Given the description of an element on the screen output the (x, y) to click on. 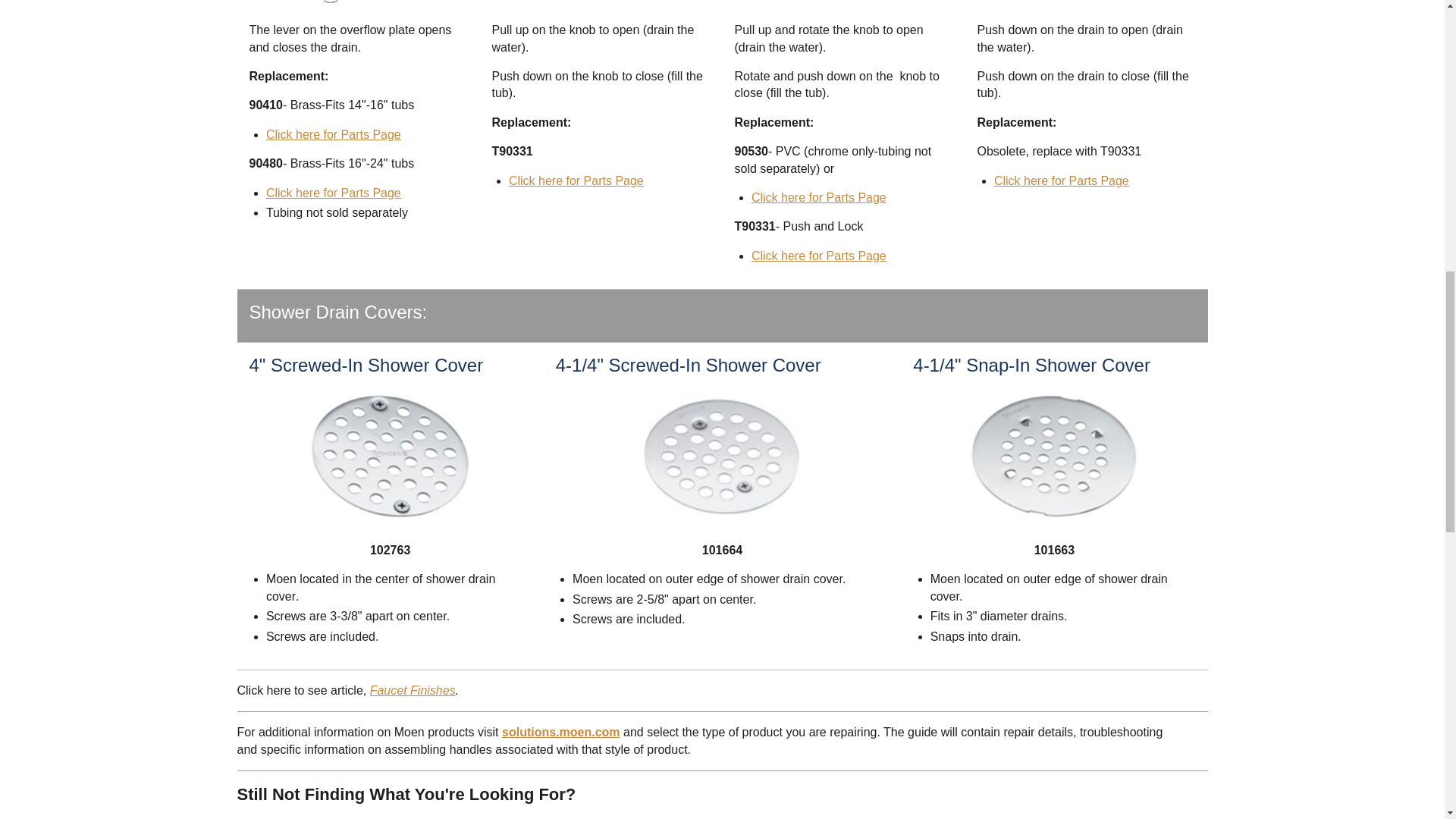
t90331pt (765, 255)
90530pt (818, 196)
90480pt (333, 192)
t90331pt (833, 255)
t90331pt (523, 180)
t90331pt (590, 180)
90410pt (333, 133)
